Given the description of an element on the screen output the (x, y) to click on. 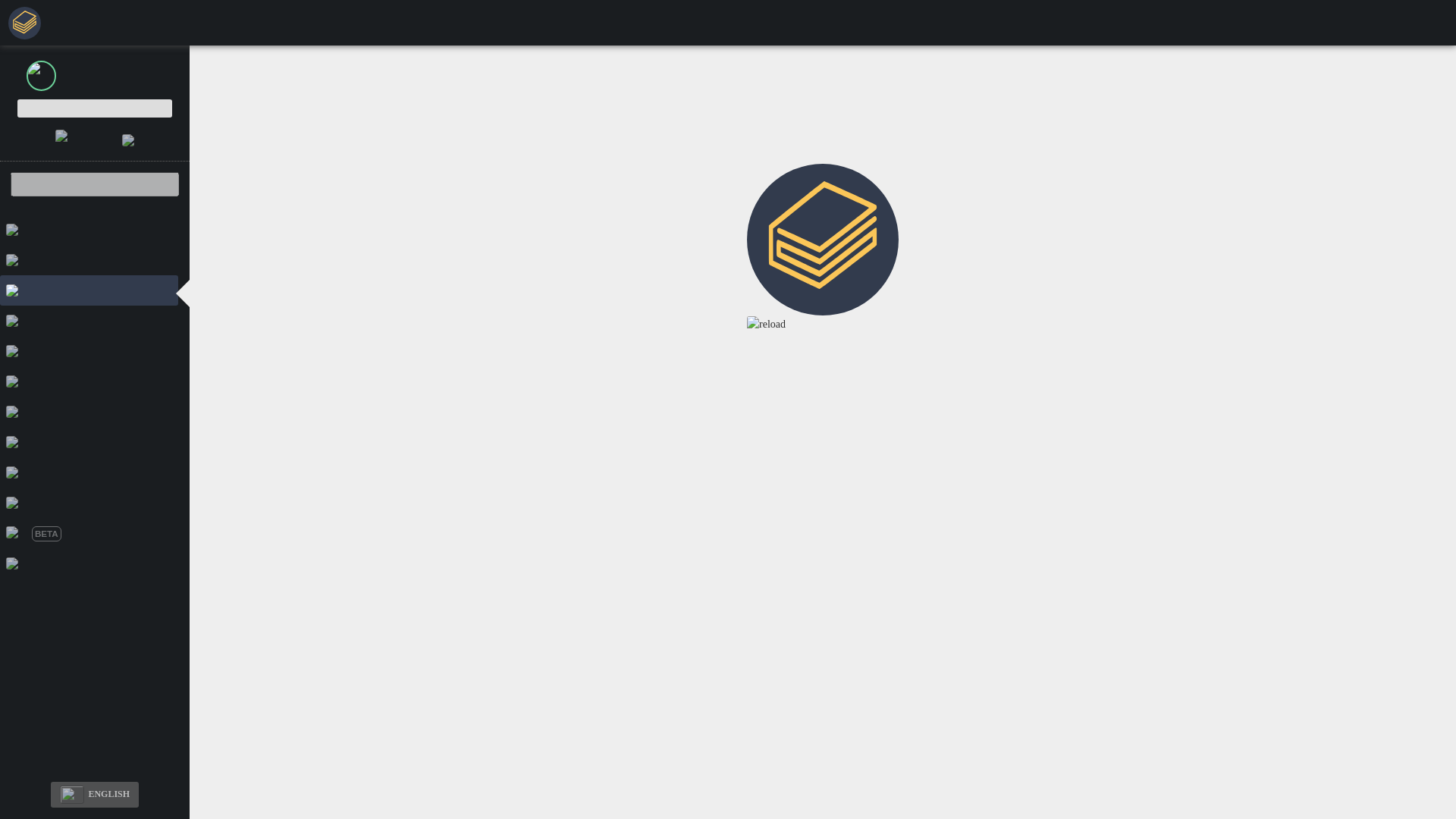
ENGLISH (94, 794)
BETA (88, 532)
